Given the description of an element on the screen output the (x, y) to click on. 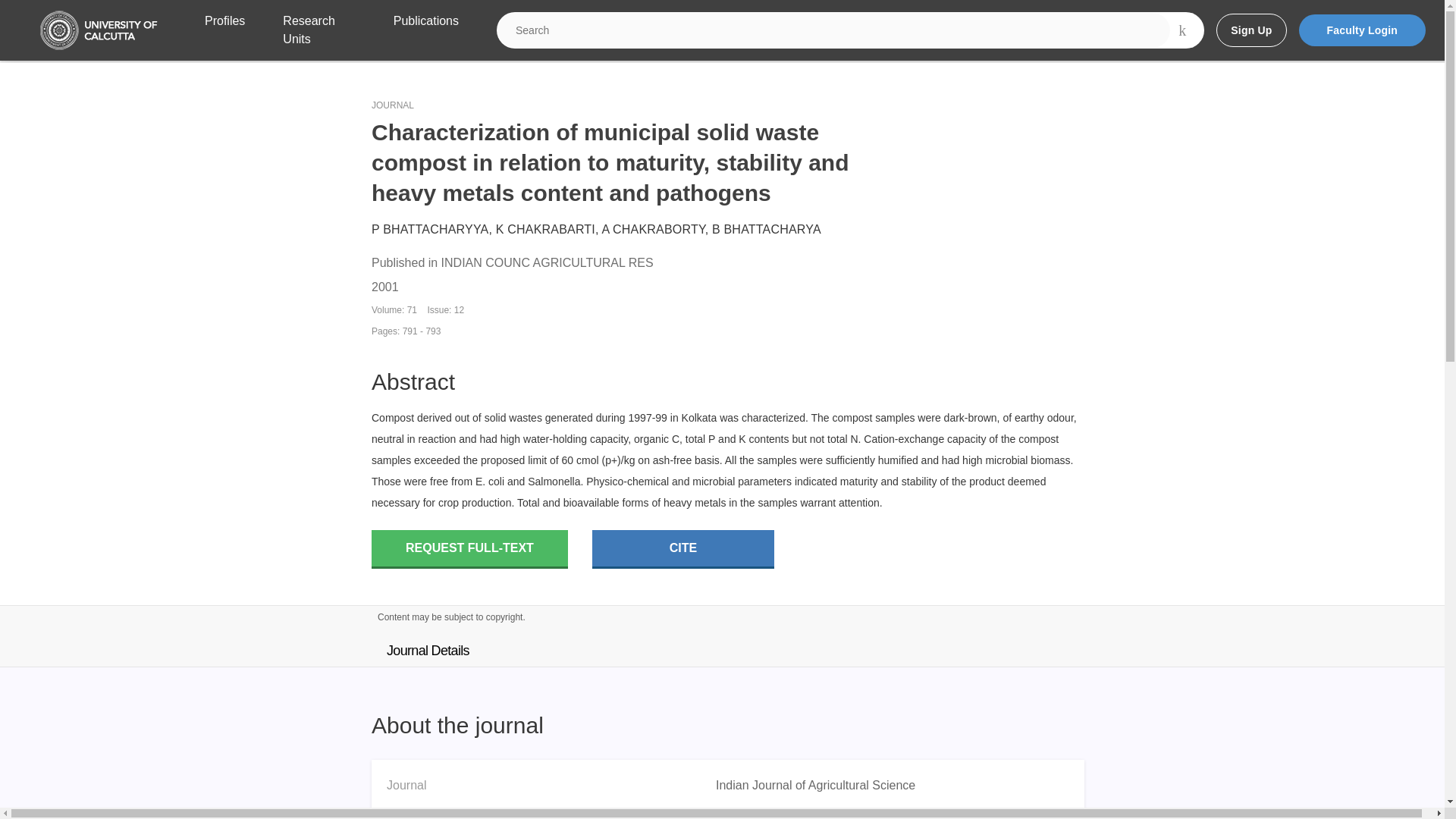
Sign Up (1250, 29)
Profiles (224, 30)
Publications (425, 30)
CITE (683, 548)
Institution logo (98, 30)
Faculty Login (1361, 29)
Journal Details (427, 650)
REQUEST FULL-TEXT (469, 548)
Research Units (318, 30)
